Given the description of an element on the screen output the (x, y) to click on. 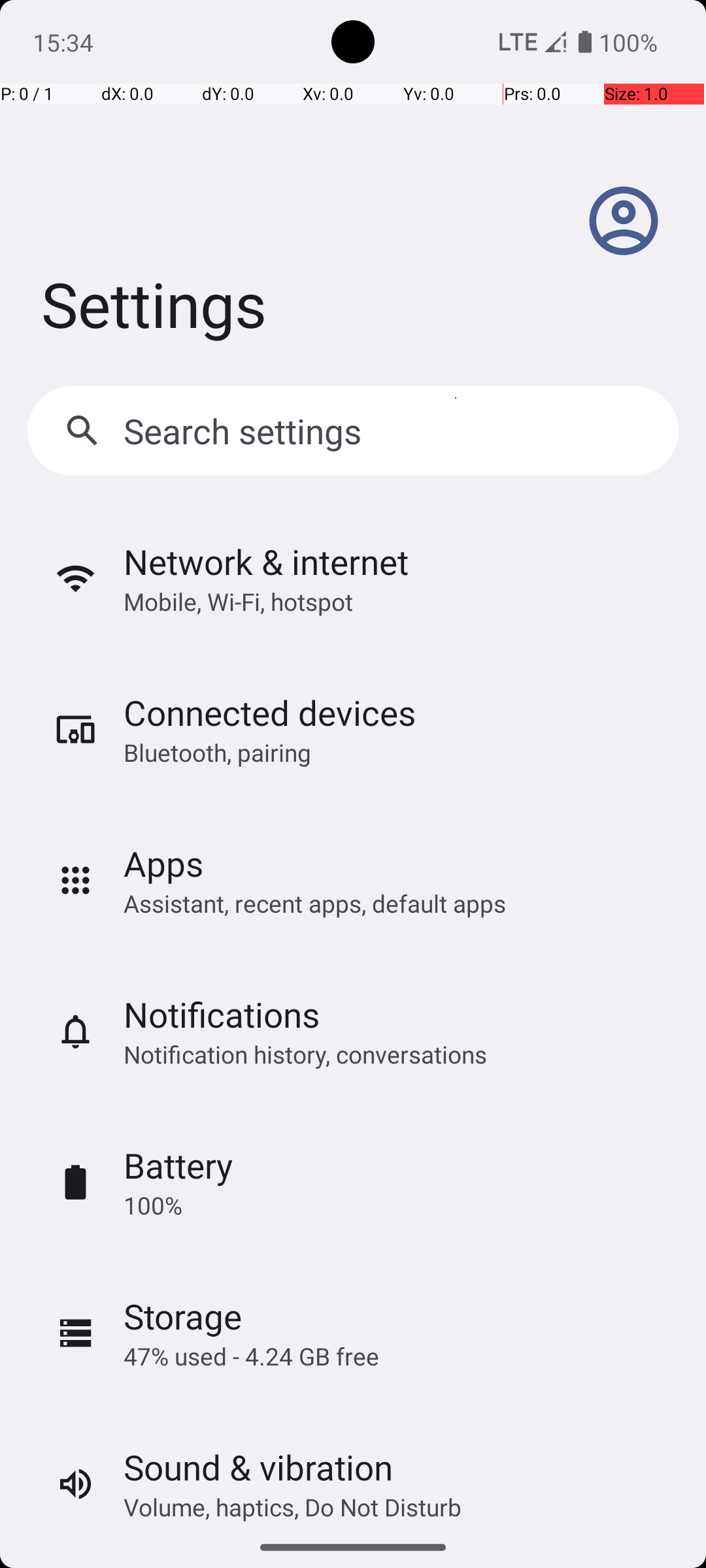
47% used - 4.24 GB free Element type: android.widget.TextView (251, 1355)
